Given the description of an element on the screen output the (x, y) to click on. 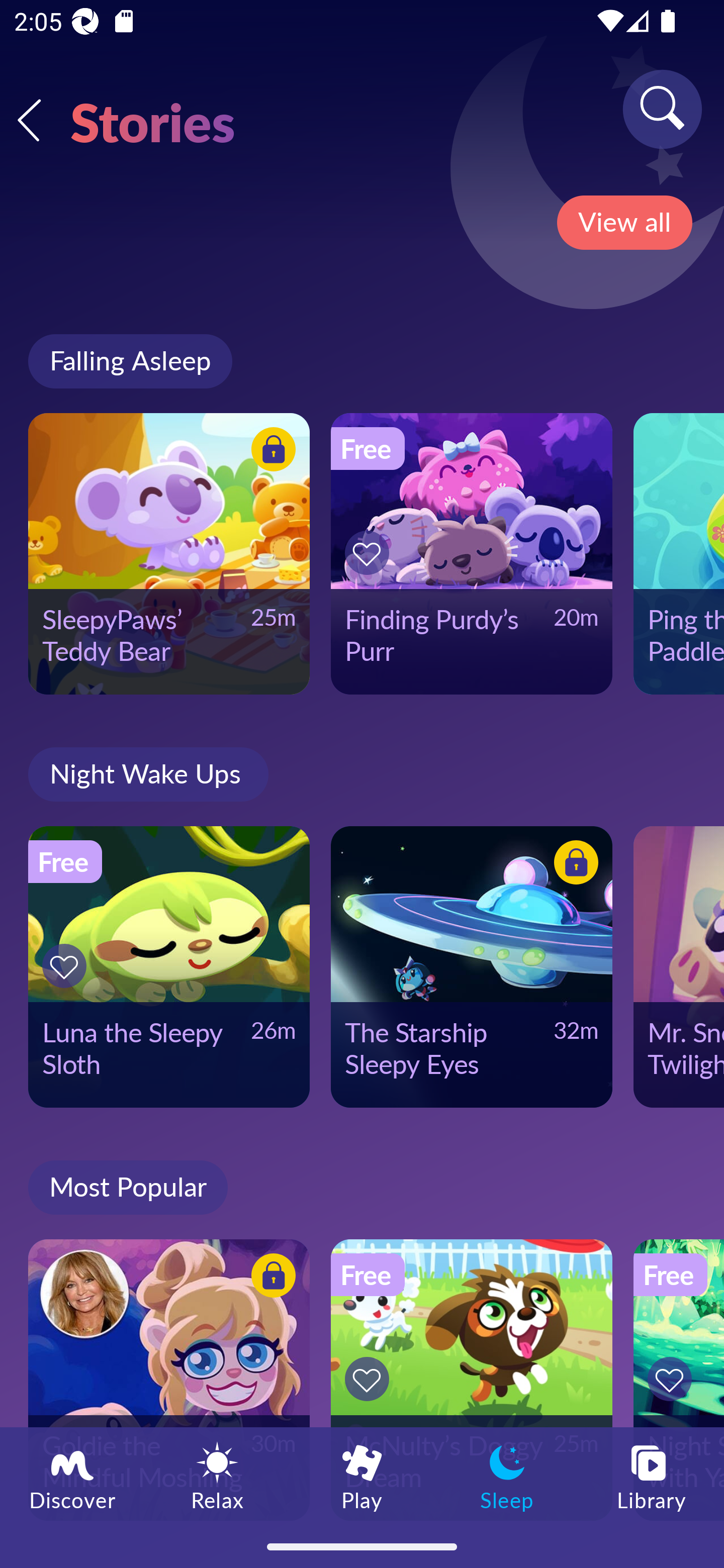
View all (624, 222)
Button (269, 451)
Button (369, 552)
Button (573, 865)
Button (67, 965)
Button (269, 1277)
Button (369, 1378)
Button (672, 1378)
Discover (72, 1475)
Relax (216, 1475)
Play (361, 1475)
Library (651, 1475)
